Given the description of an element on the screen output the (x, y) to click on. 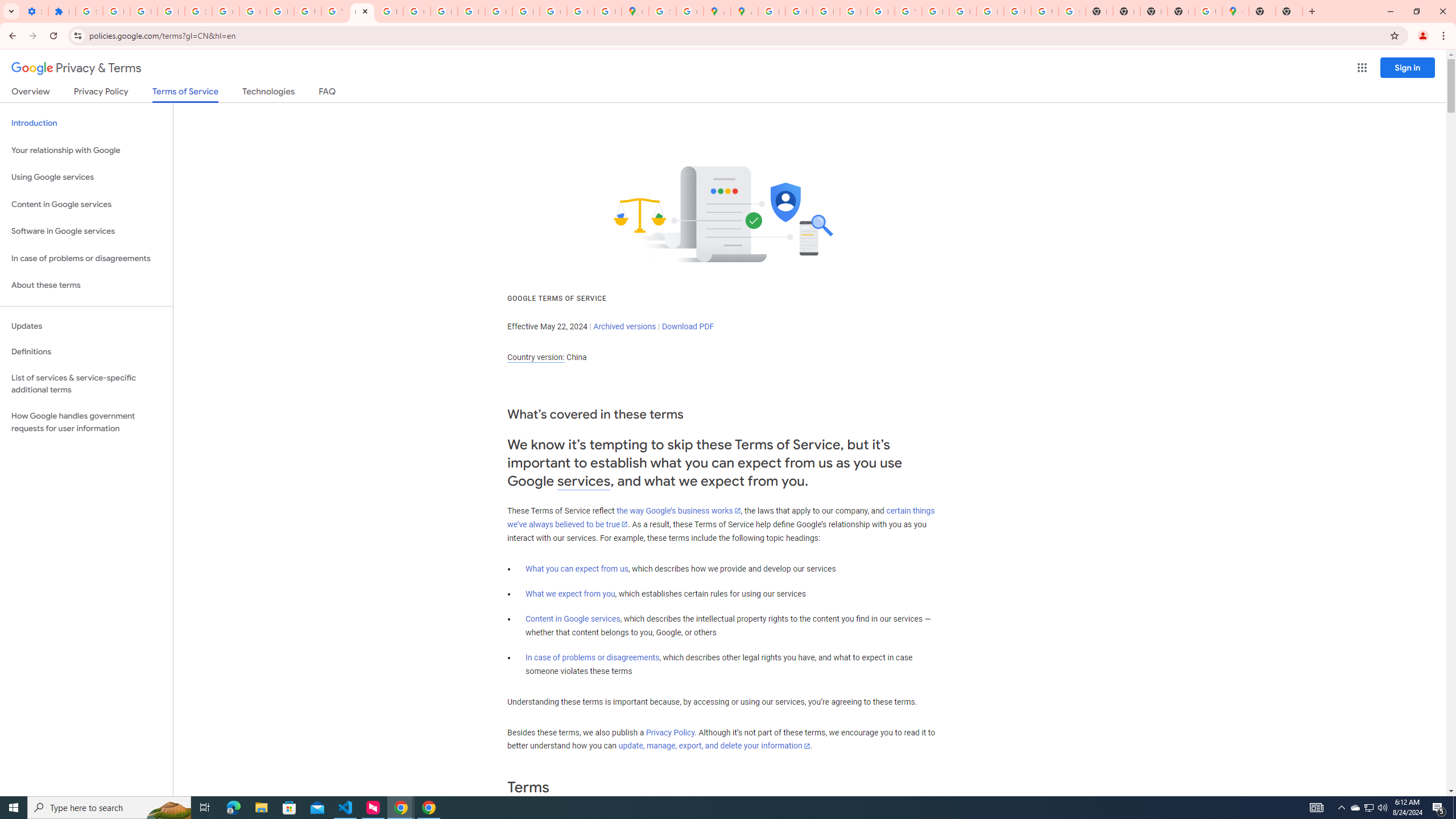
Delete photos & videos - Computer - Google Photos Help (116, 11)
New Tab (1262, 11)
Policy Accountability and Transparency - Transparency Center (771, 11)
Download PDF (687, 326)
Learn how to find your photos - Google Photos Help (144, 11)
New Tab (1289, 11)
Your relationship with Google (86, 150)
